Given the description of an element on the screen output the (x, y) to click on. 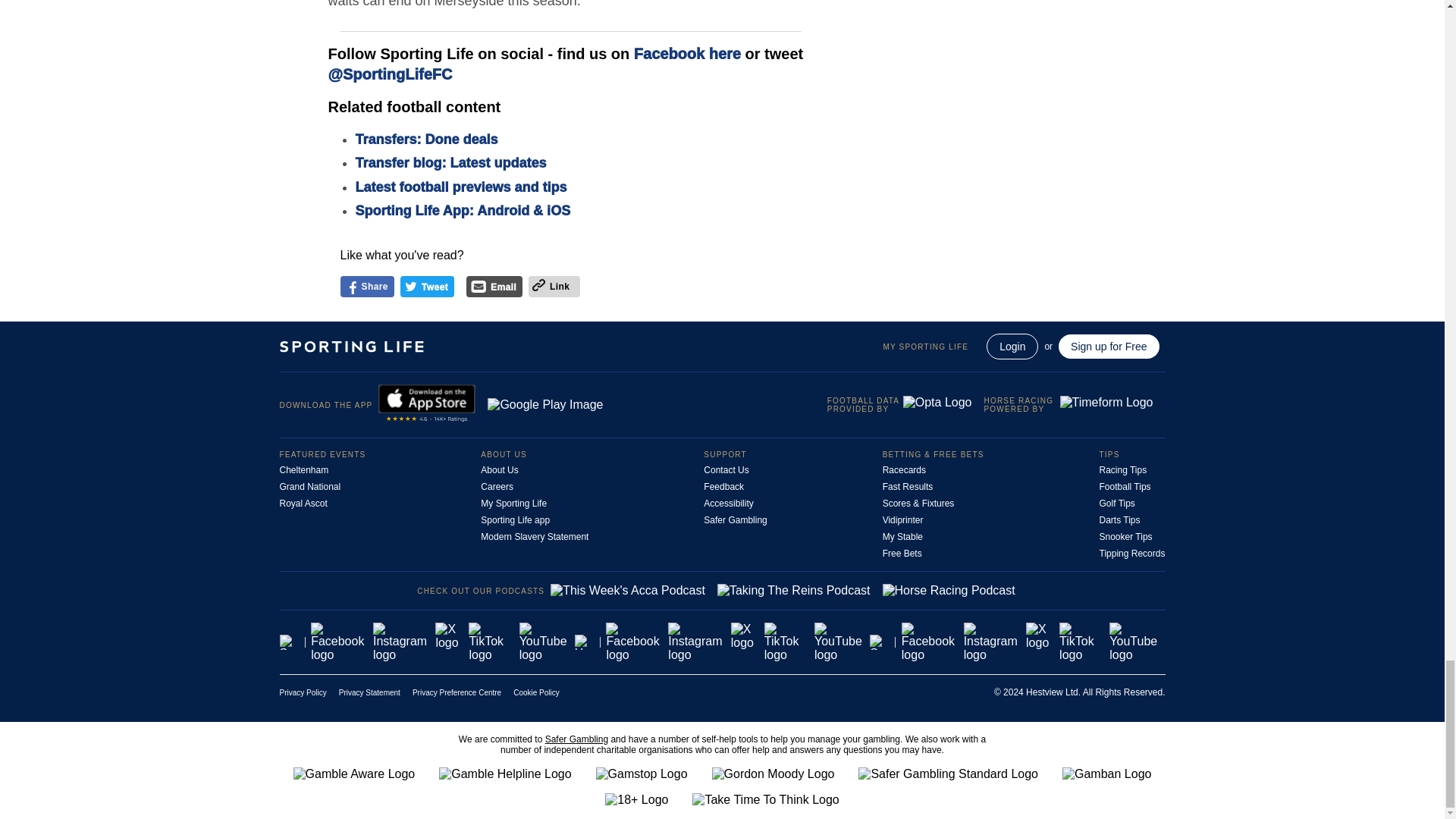
Privacy Preference Centre (456, 692)
Email link (478, 288)
Copy link (539, 286)
